Given the description of an element on the screen output the (x, y) to click on. 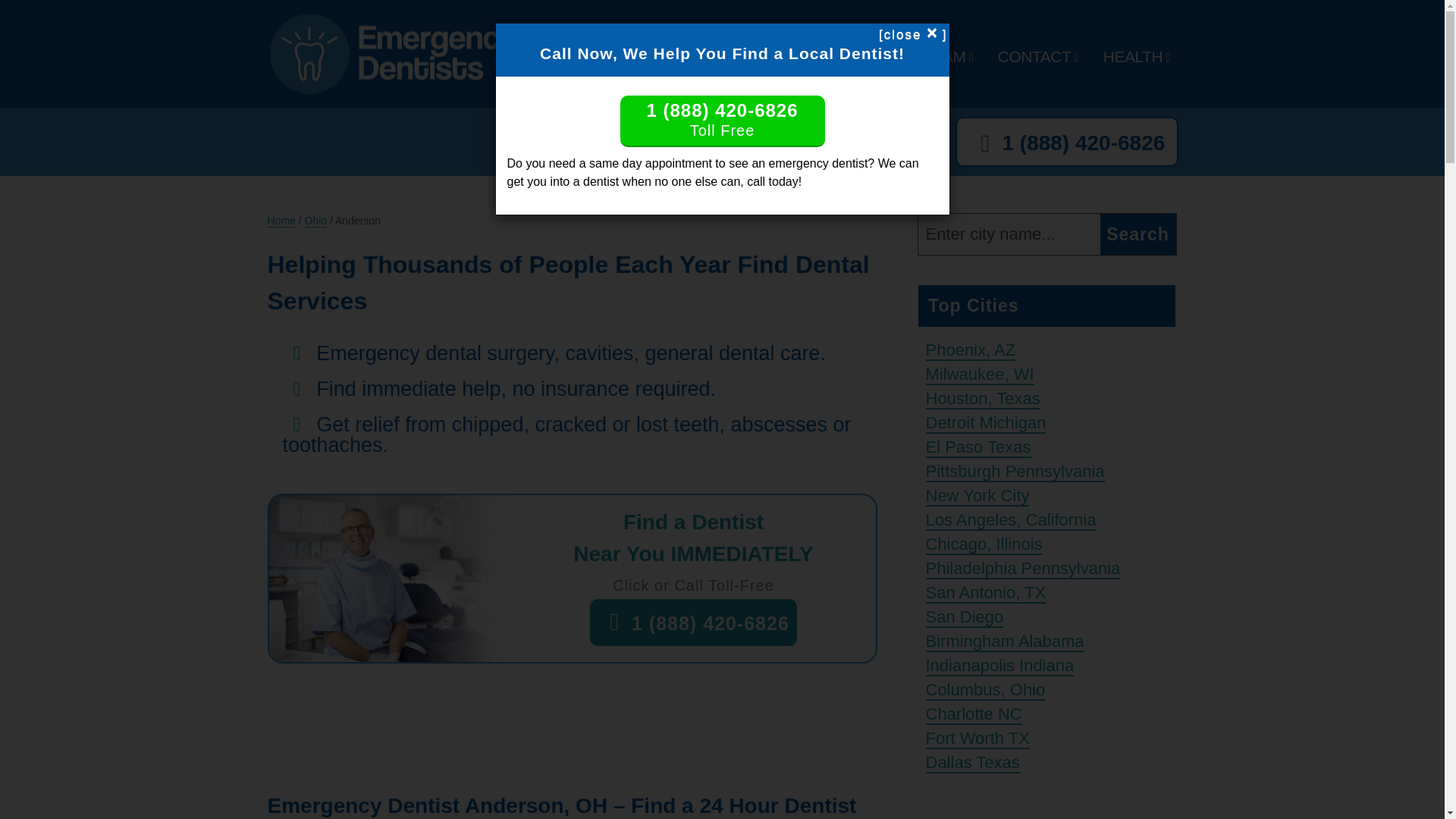
Search (1136, 233)
FIND DENTISTS (720, 56)
TEAM (944, 56)
CONTACT (1033, 56)
DENTABLY (851, 56)
Search (1136, 233)
Emergency Dentists USA (395, 91)
